Given the description of an element on the screen output the (x, y) to click on. 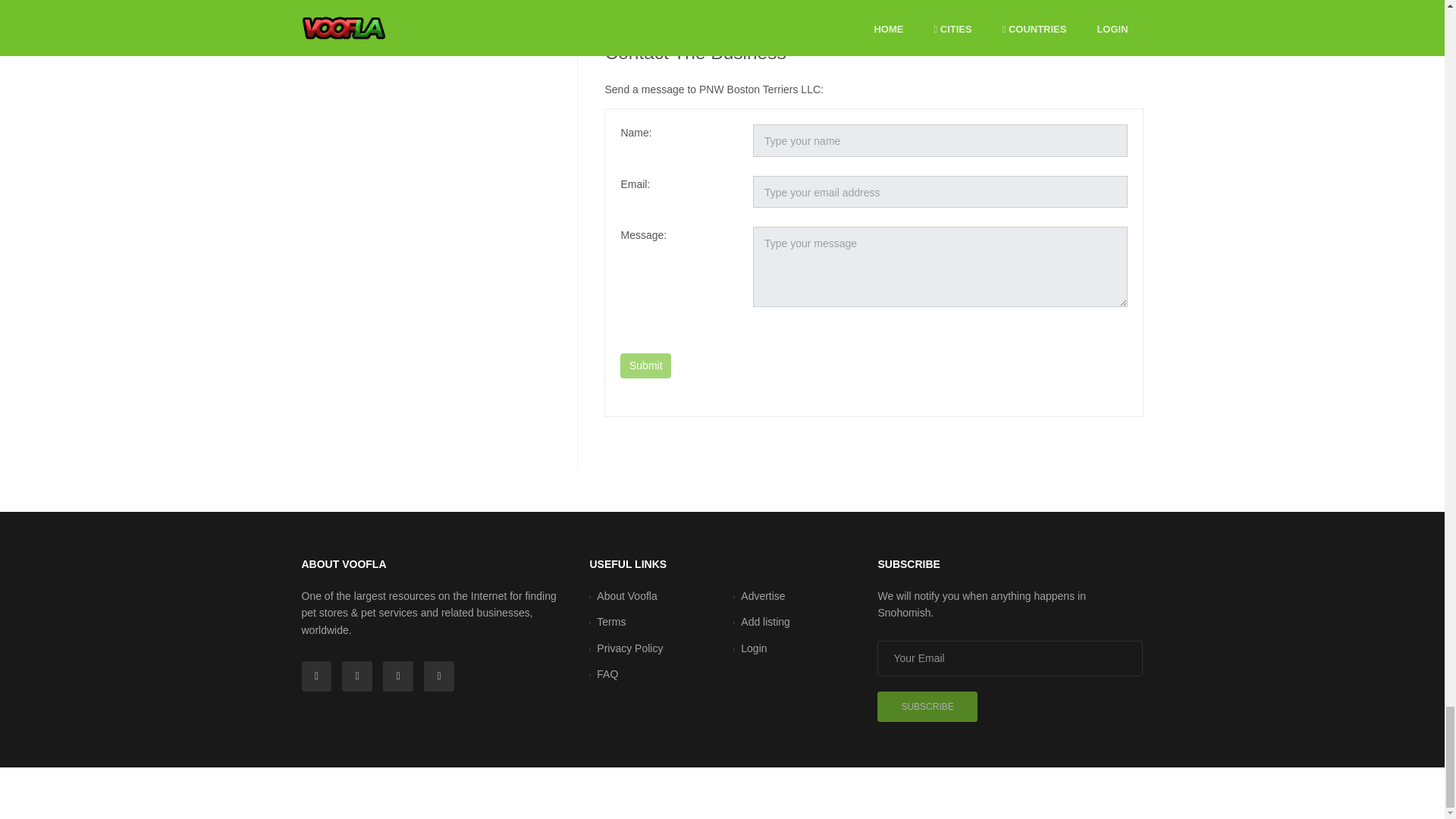
Submit (645, 365)
SUBSCRIBE (653, 4)
Submit (645, 365)
